Given the description of an element on the screen output the (x, y) to click on. 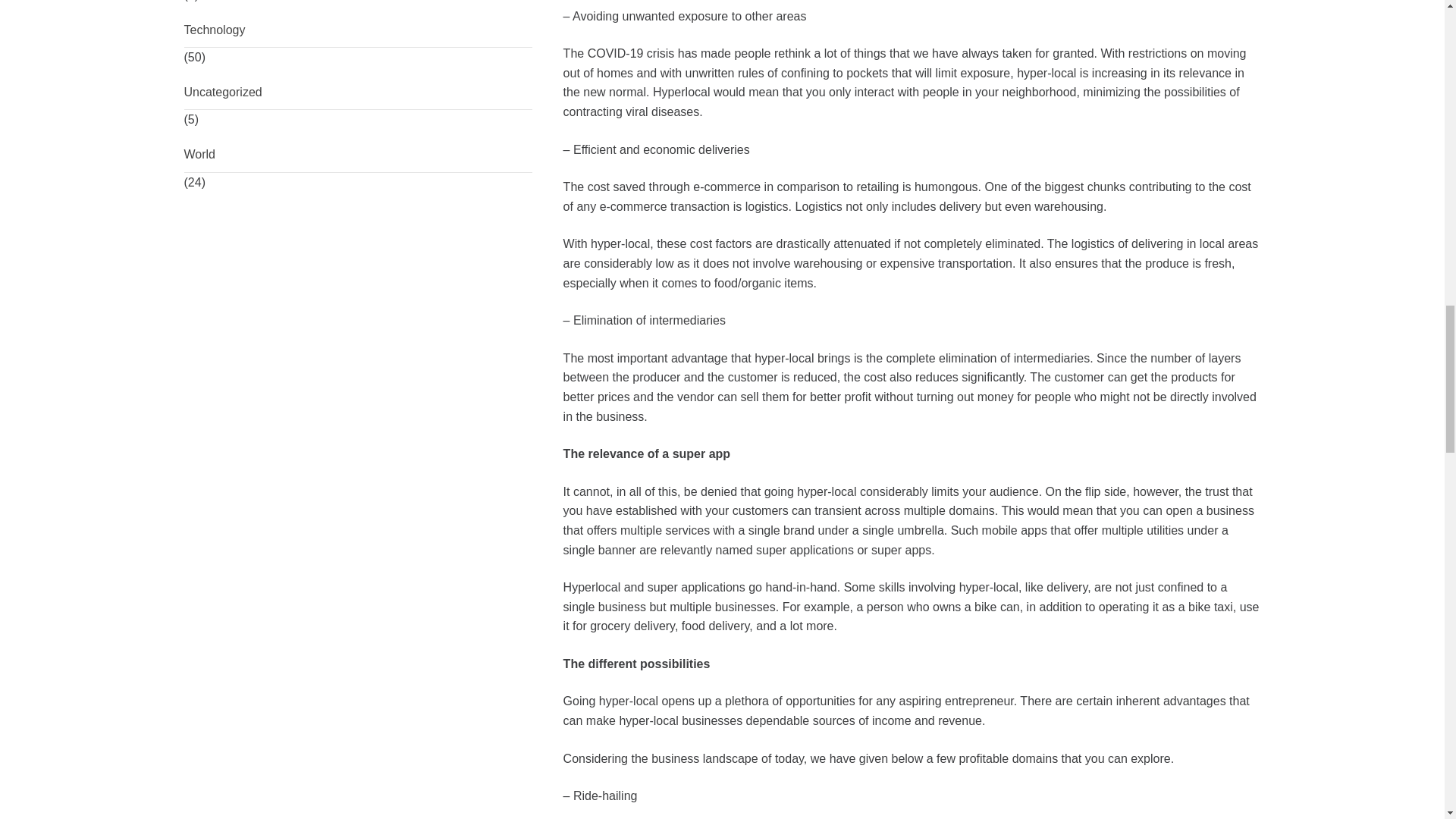
Uncategorized (357, 92)
World (357, 154)
Technology (357, 30)
